Given the description of an element on the screen output the (x, y) to click on. 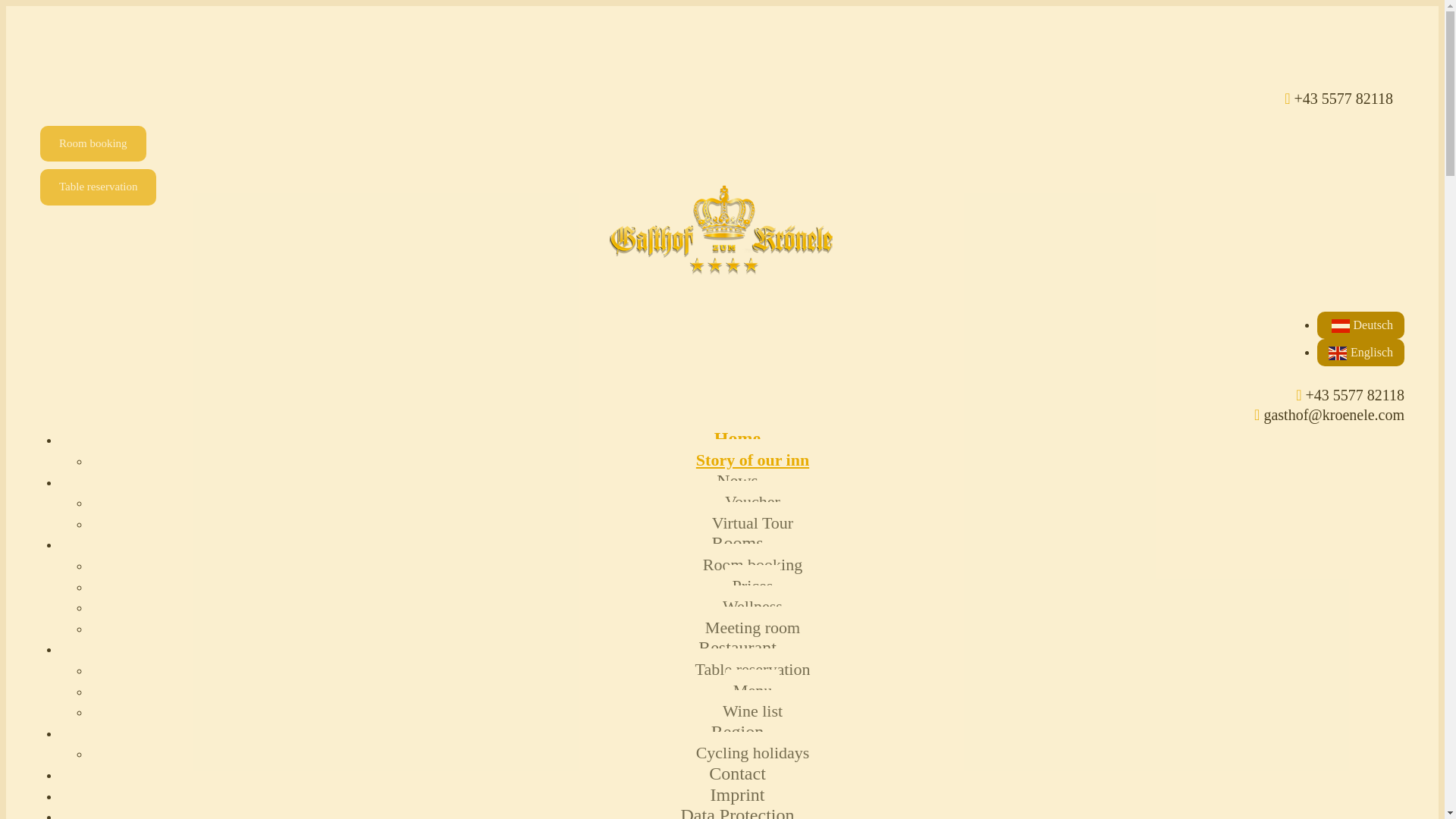
Home (737, 438)
Englisch (1360, 351)
Restaurant (737, 647)
Virtual Tour (752, 522)
Meeting room (752, 627)
Menu (751, 690)
Wellness (752, 606)
Voucher (752, 501)
Wine list (752, 711)
Contact (737, 773)
Logo (721, 229)
Table reservation (97, 186)
Data Protection (737, 804)
Prices (752, 585)
Imprint (737, 794)
